Given the description of an element on the screen output the (x, y) to click on. 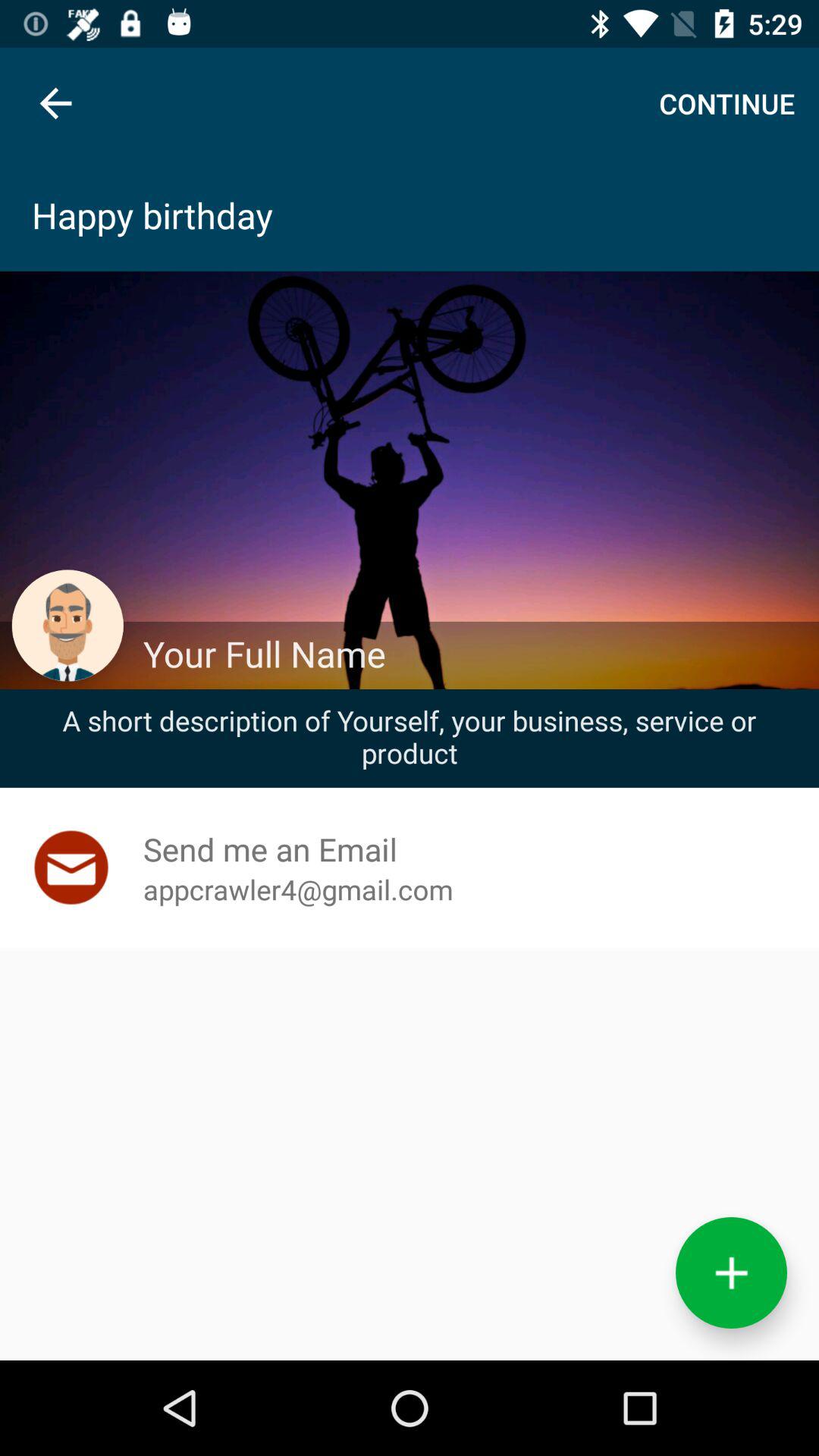
launch your full name icon (473, 653)
